Given the description of an element on the screen output the (x, y) to click on. 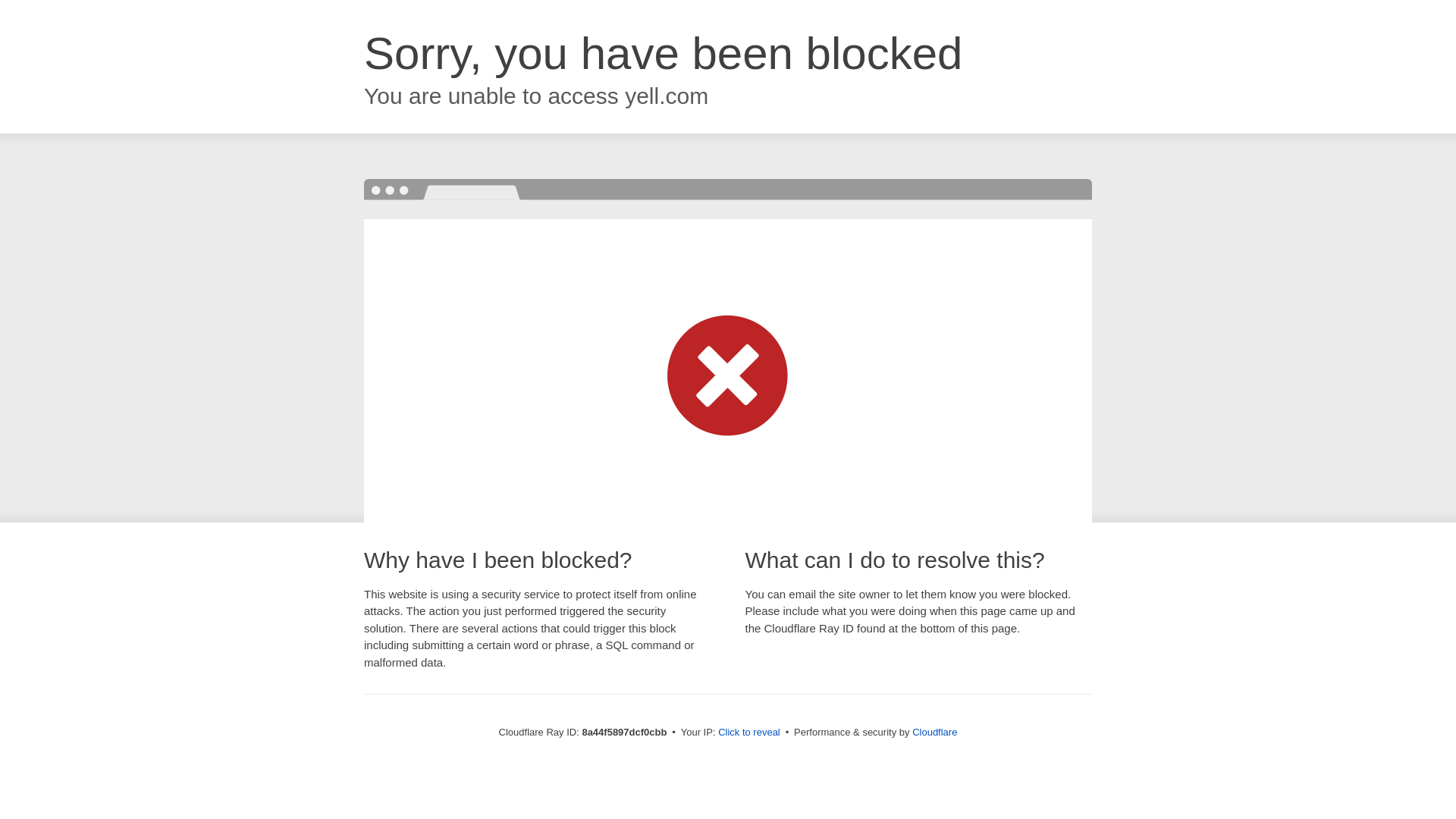
Click to reveal (748, 732)
Cloudflare (934, 731)
